Given the description of an element on the screen output the (x, y) to click on. 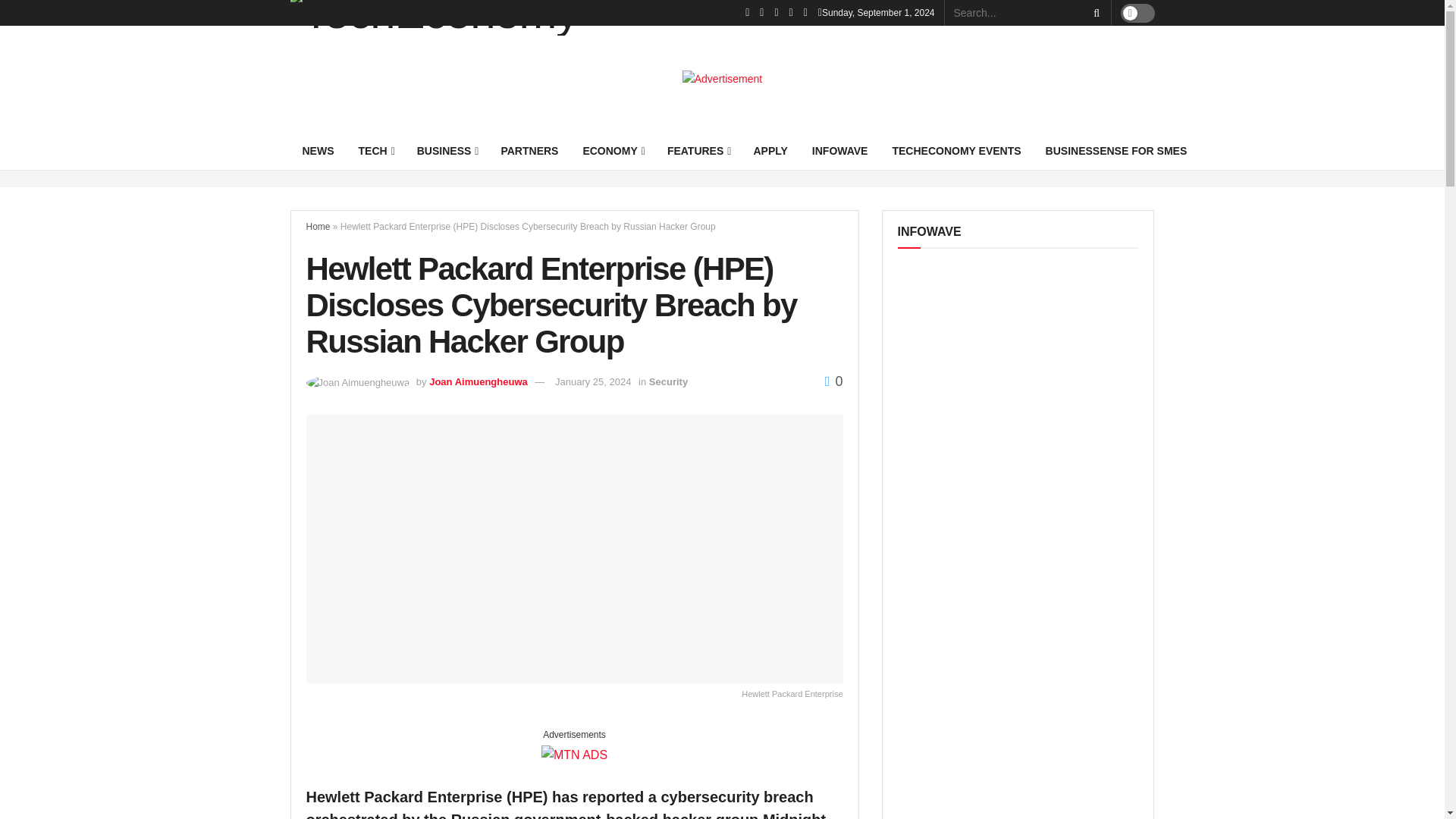
PARTNERS (528, 150)
BUSINESS (446, 150)
FEATURES (698, 150)
ECONOMY (611, 150)
TECH (375, 150)
NEWS (317, 150)
